Given the description of an element on the screen output the (x, y) to click on. 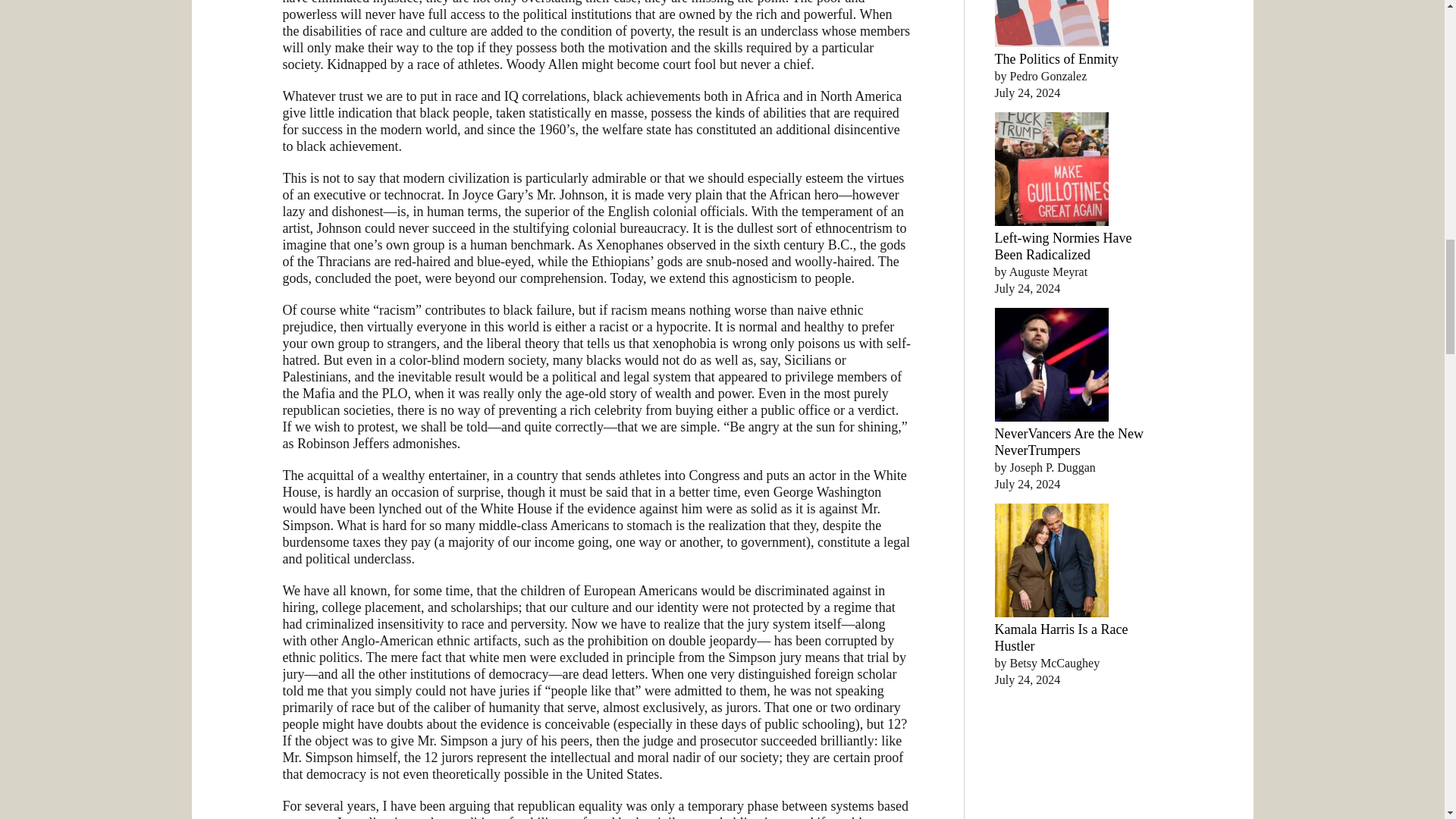
Left-wing Normies Have Been Radicalized (1063, 246)
Kamala Harris Is a Race Hustler (1061, 637)
NeverVancers Are the New NeverTrumpers (1068, 441)
The Politics of Enmity (1056, 58)
